Given the description of an element on the screen output the (x, y) to click on. 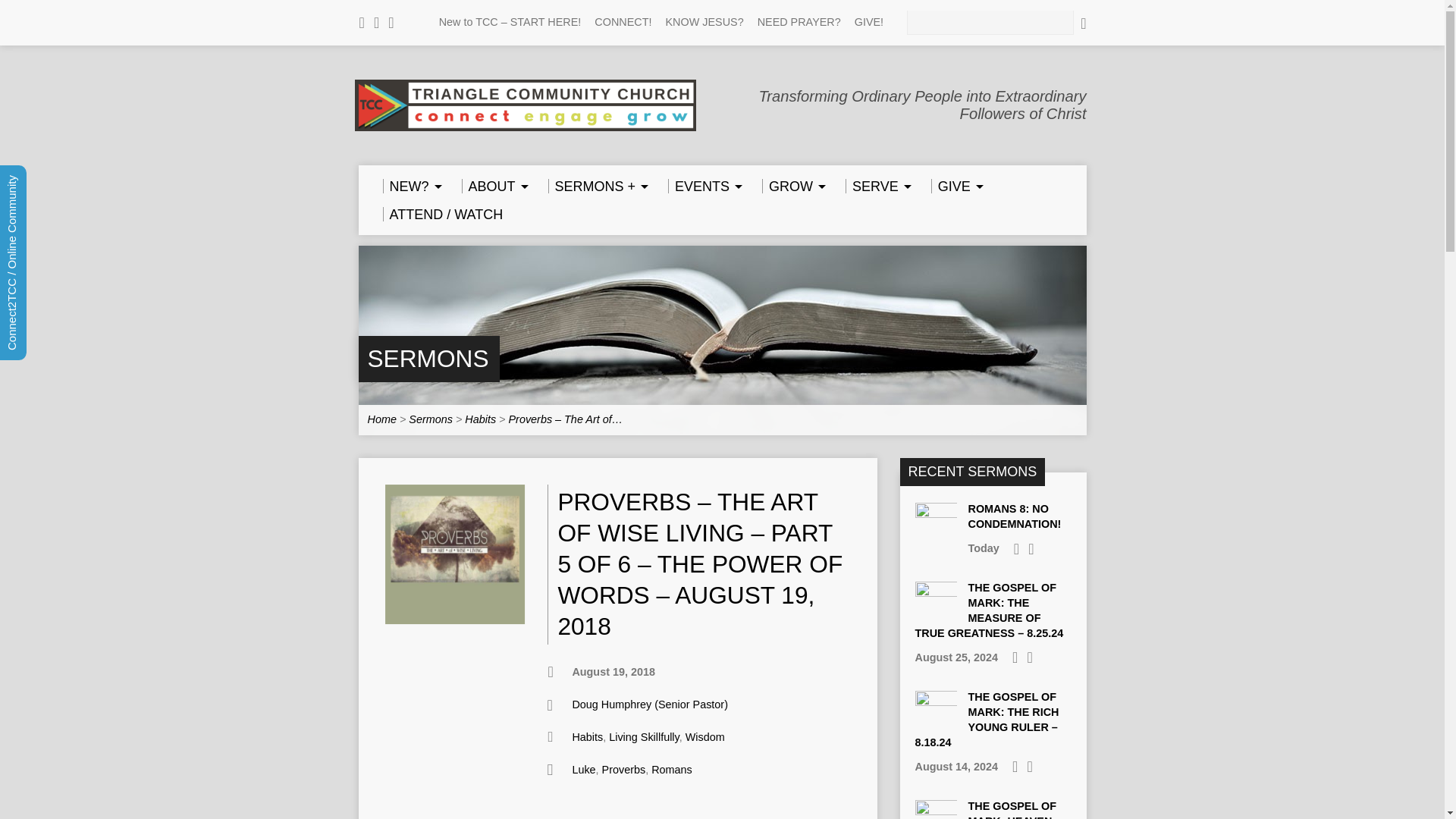
EVENTS (703, 186)
CONNECT! (622, 21)
NEED PRAYER? (799, 21)
Sermons (426, 358)
ABOUT (492, 186)
Romans 8: No Condemnation! (1014, 515)
Romans 8: No Condemnation! (935, 536)
GIVE! (868, 21)
GROW (791, 186)
NEW? (408, 186)
